Given the description of an element on the screen output the (x, y) to click on. 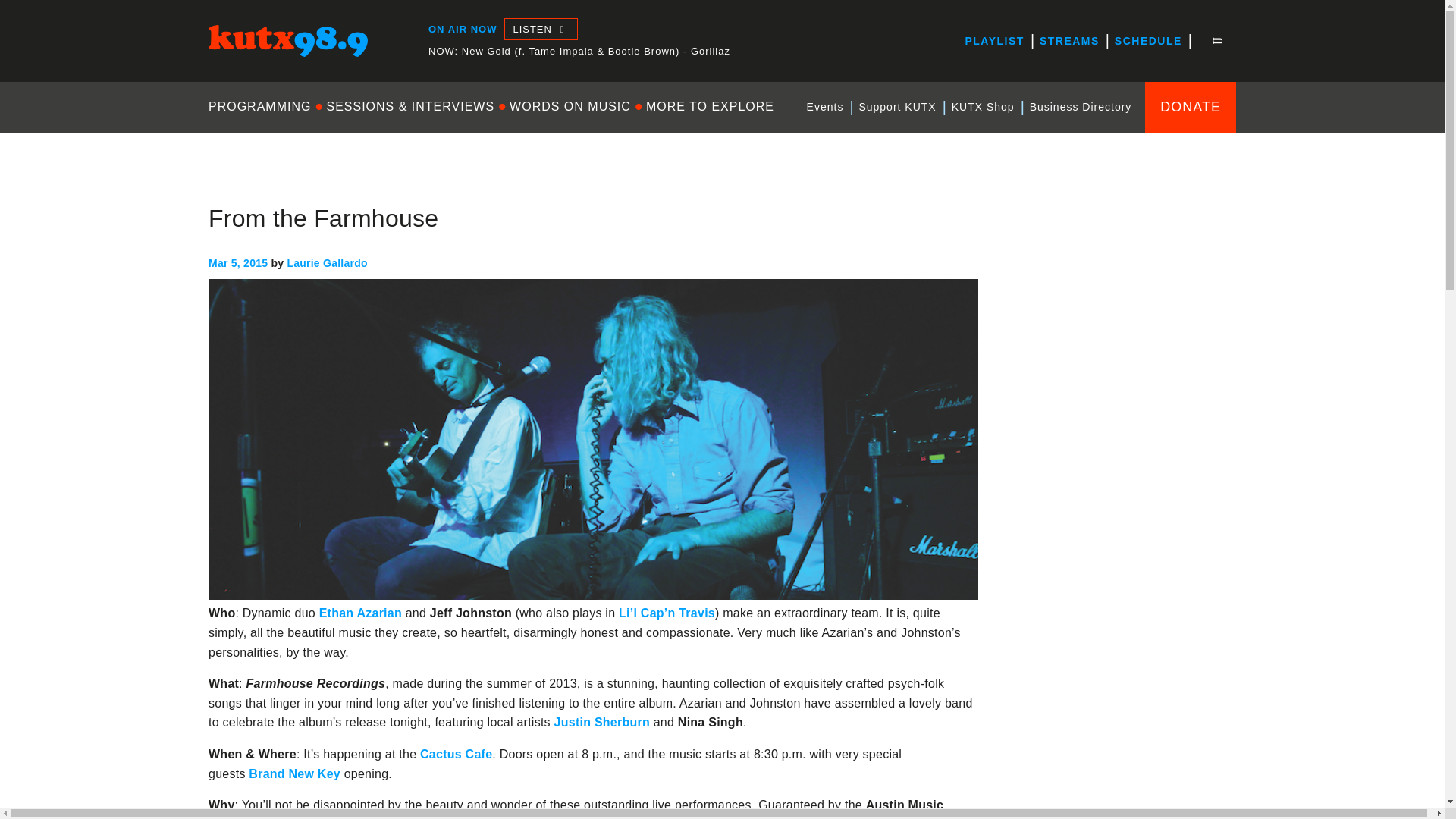
3rd party ad content (1122, 701)
STREAMS (1069, 40)
LISTEN (539, 29)
DONATE (1190, 106)
3rd party ad content (1122, 497)
WORDS ON MUSIC (570, 106)
Business Directory (1081, 106)
SCHEDULE (1147, 40)
PLAYLIST (993, 40)
PROGRAMMING (263, 106)
